Given the description of an element on the screen output the (x, y) to click on. 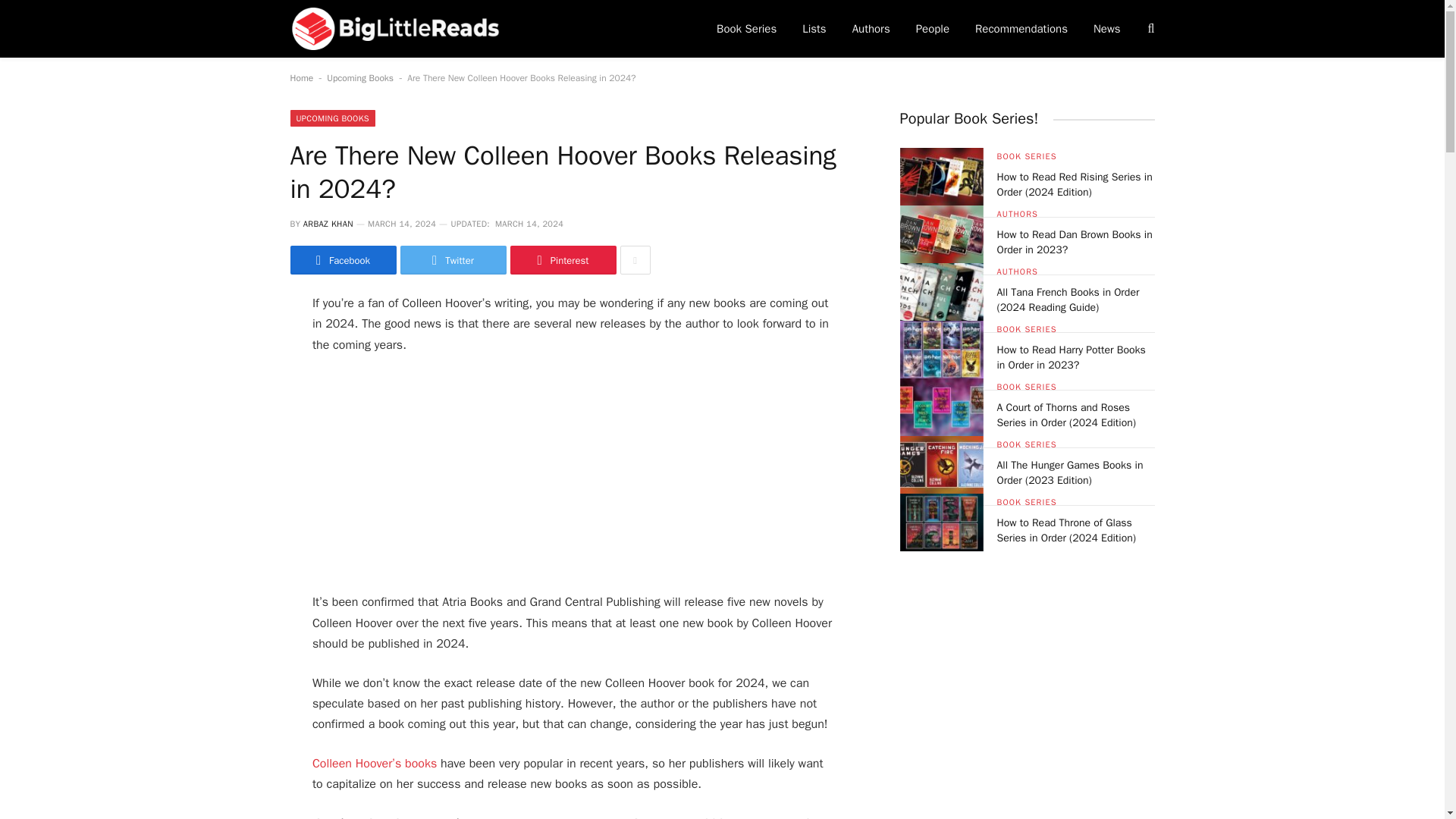
Share on Pinterest (562, 259)
Pinterest (562, 259)
Upcoming Books (359, 78)
Posts by Arbaz Khan (327, 223)
Book Series (746, 28)
Show More Social Sharing (635, 259)
Twitter (453, 259)
UPCOMING BOOKS (331, 117)
BigLittleReads (395, 28)
ARBAZ KHAN (327, 223)
Recommendations (1021, 28)
Authors (871, 28)
Home (301, 78)
Share on Facebook (342, 259)
Facebook (342, 259)
